Given the description of an element on the screen output the (x, y) to click on. 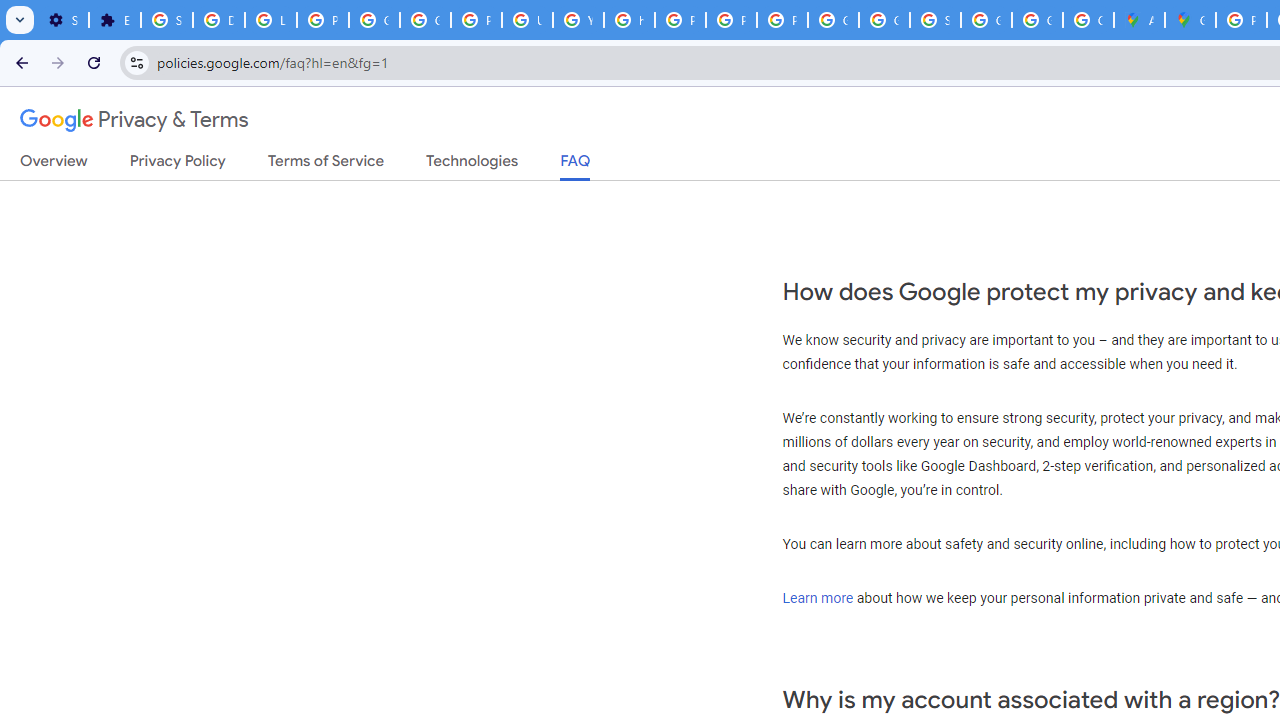
Policy Accountability and Transparency - Transparency Center (1241, 20)
Delete photos & videos - Computer - Google Photos Help (218, 20)
https://scholar.google.com/ (629, 20)
Google Maps (1189, 20)
Privacy Help Center - Policies Help (680, 20)
